Given the description of an element on the screen output the (x, y) to click on. 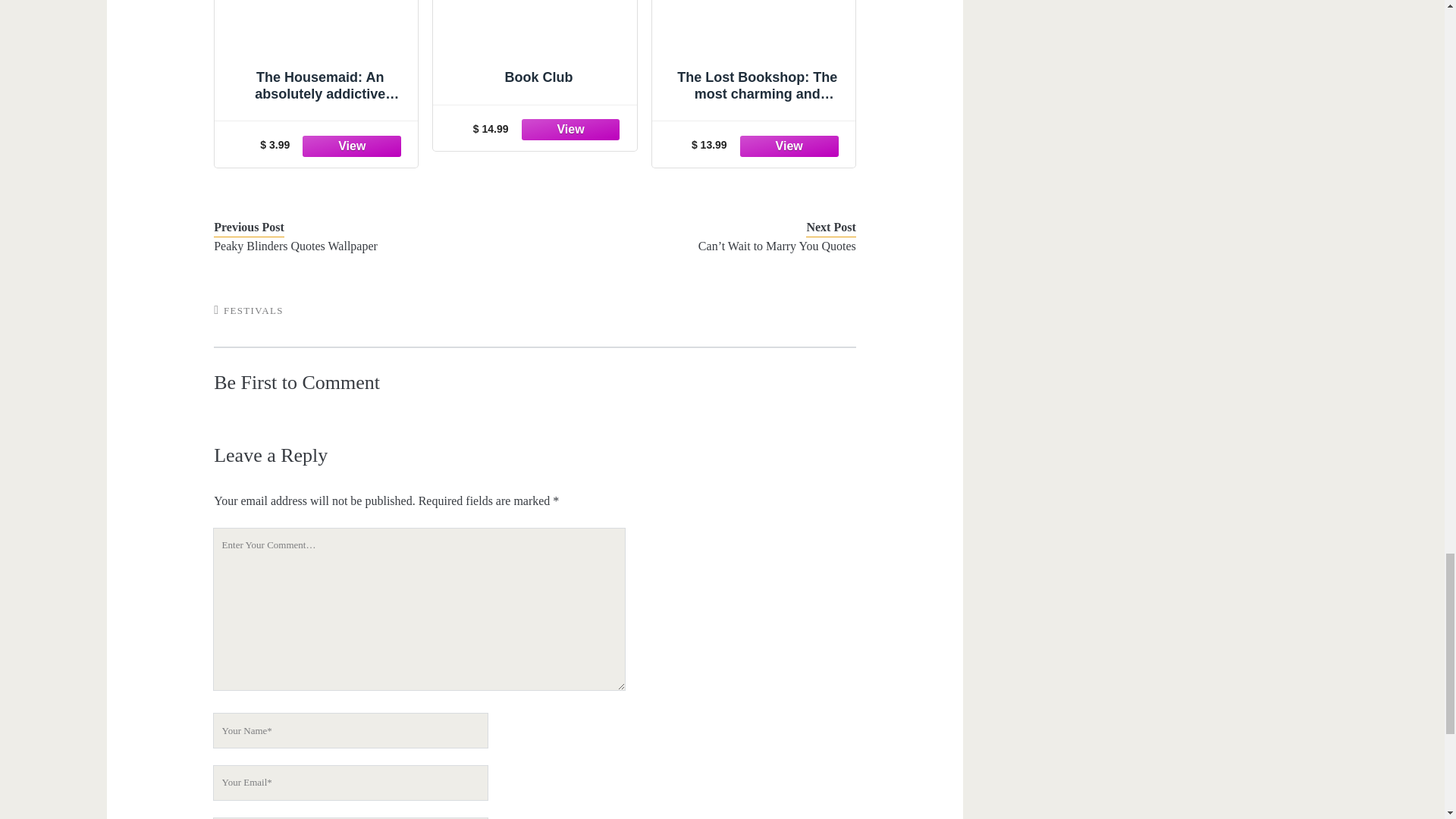
View all posts in Festivals (253, 310)
FESTIVALS (253, 310)
Peaky Blinders Quotes Wallpaper (361, 246)
Book Club (534, 50)
